Given the description of an element on the screen output the (x, y) to click on. 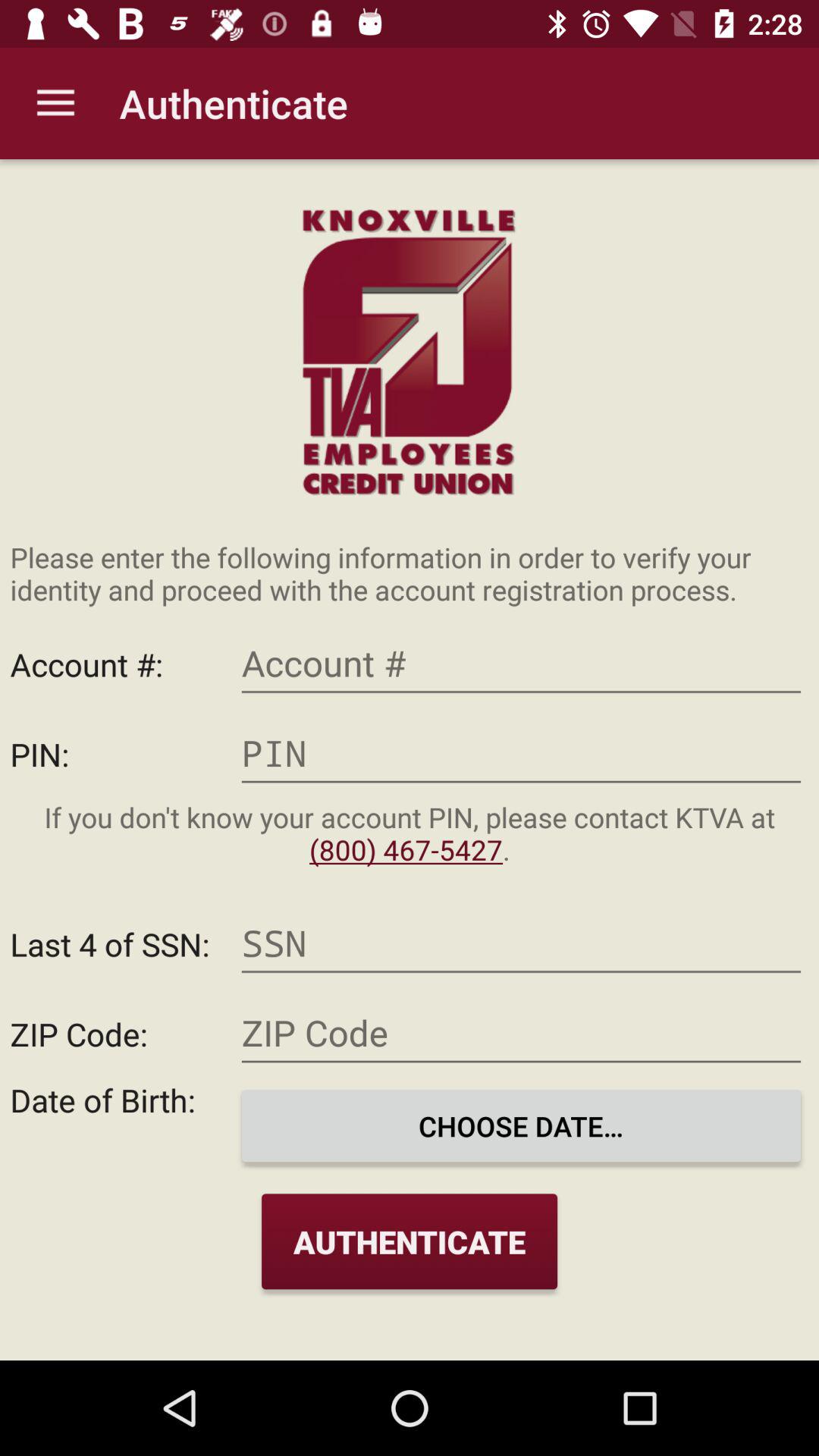
turn on item to the left of authenticate app (55, 103)
